Given the description of an element on the screen output the (x, y) to click on. 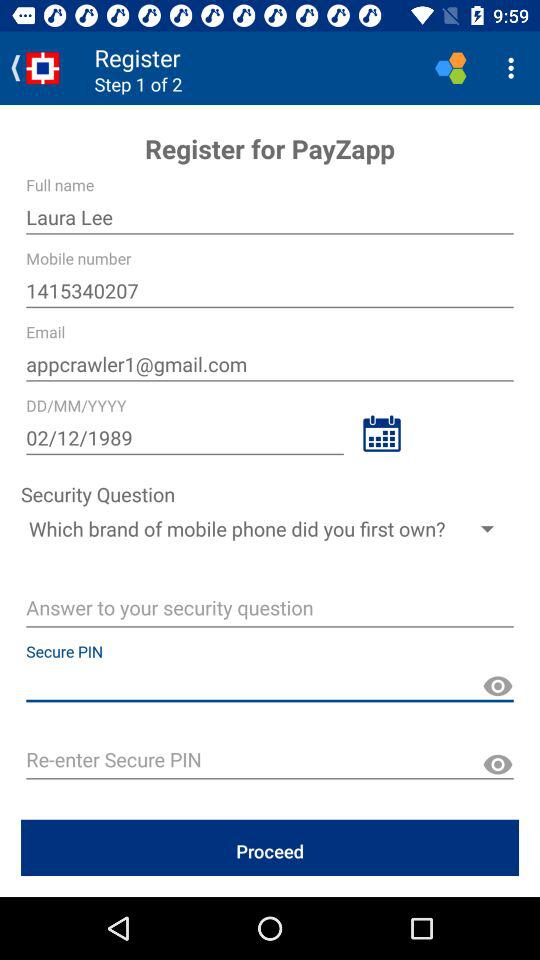
show pin (498, 686)
